Given the description of an element on the screen output the (x, y) to click on. 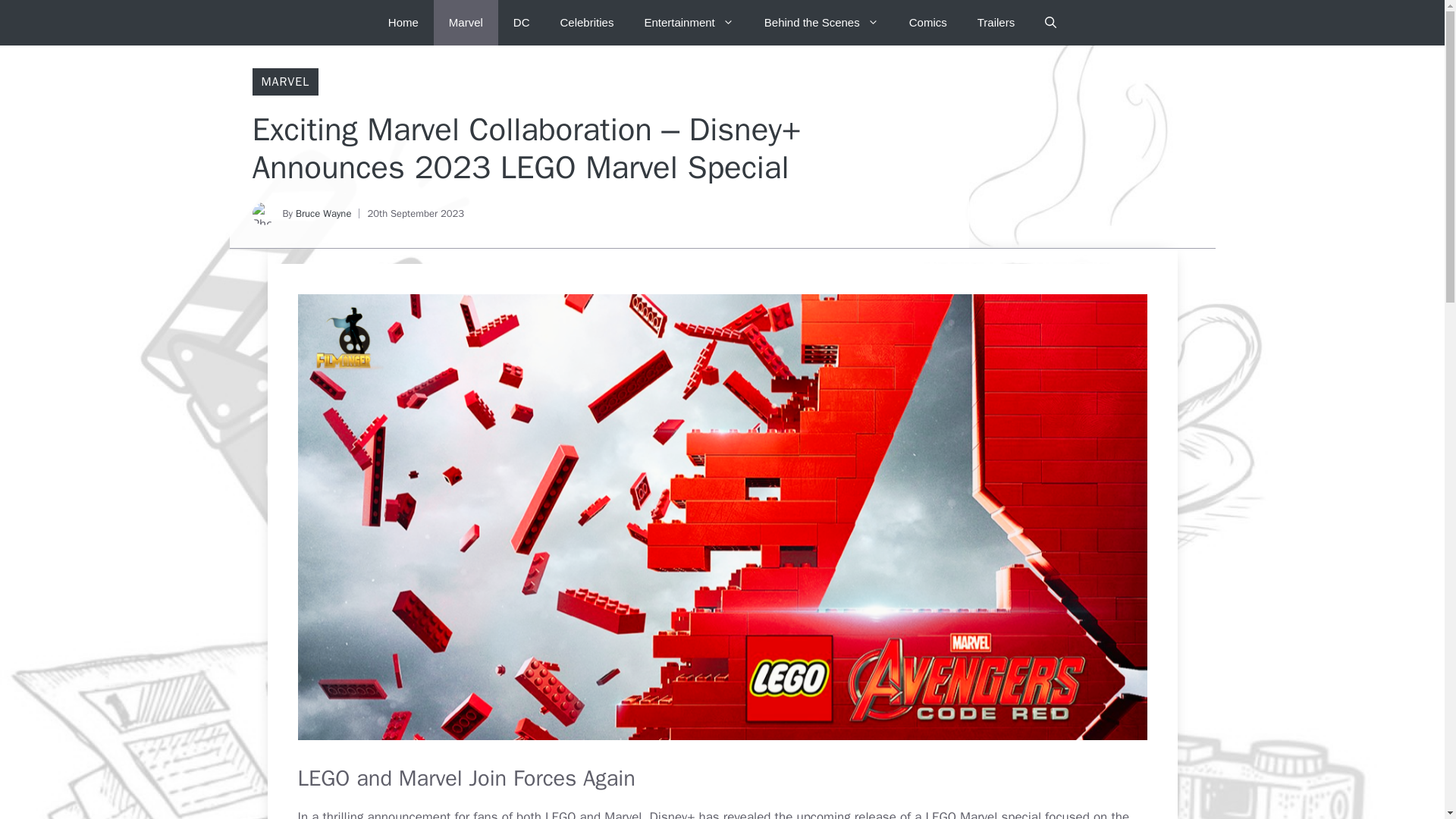
Marvel (465, 22)
Entertainment (688, 22)
DC (520, 22)
Home (402, 22)
MARVEL (284, 81)
Behind the Scenes (821, 22)
Bruce Wayne (322, 213)
Comics (927, 22)
Trailers (995, 22)
Celebrities (586, 22)
